Given the description of an element on the screen output the (x, y) to click on. 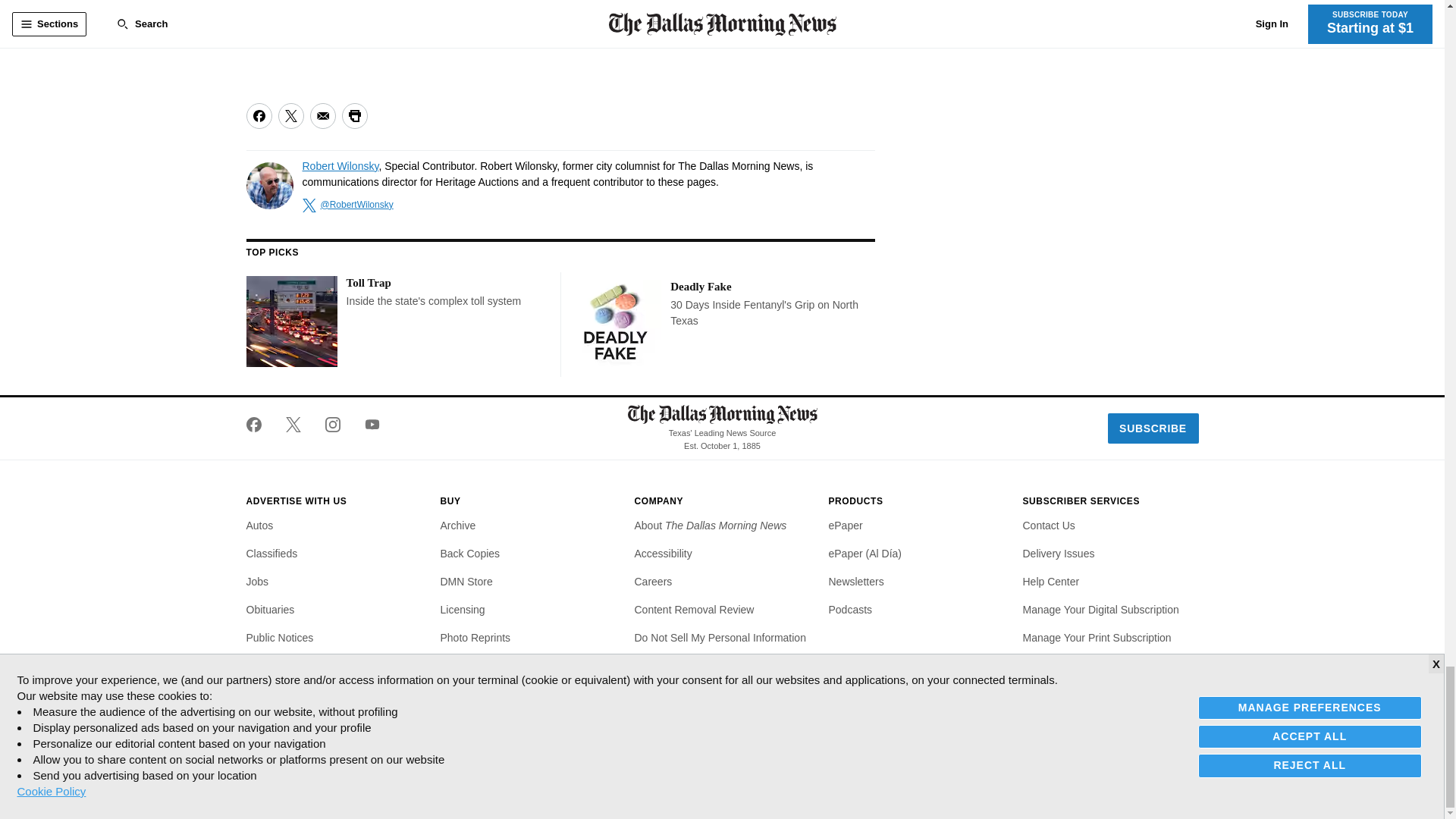
The Dallas Morning News on Facebook (259, 424)
Share on Facebook (258, 115)
The Dallas Morning News on Twitter (293, 424)
The Dallas Morning News on Instagram (332, 424)
The Dallas Morning News on YouTube (365, 424)
Share via Email (321, 115)
Share on Twitter (290, 115)
Print (353, 115)
